Given the description of an element on the screen output the (x, y) to click on. 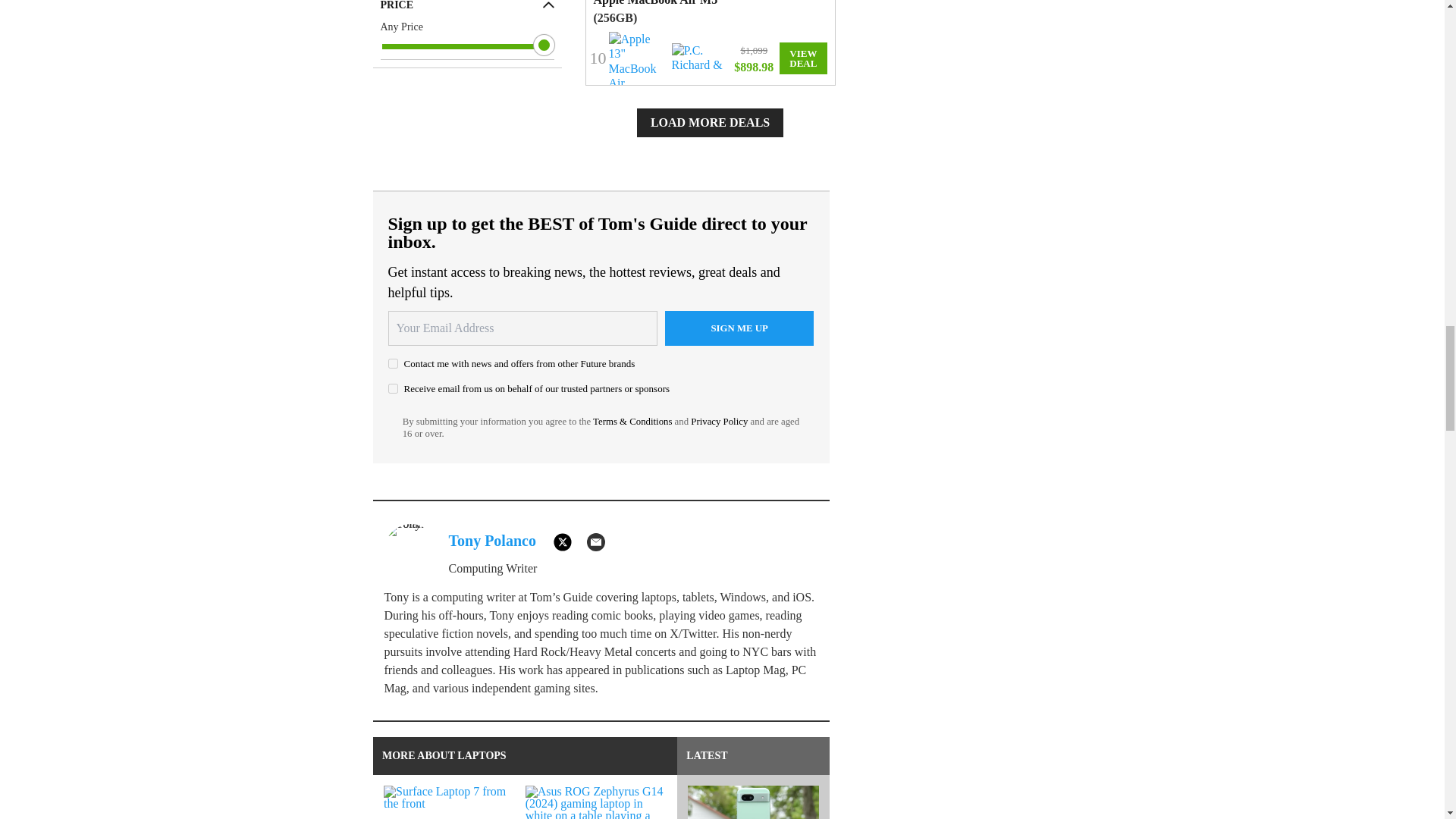
on (392, 363)
Arrow (548, 4)
Sign me up (739, 328)
on (392, 388)
